Given the description of an element on the screen output the (x, y) to click on. 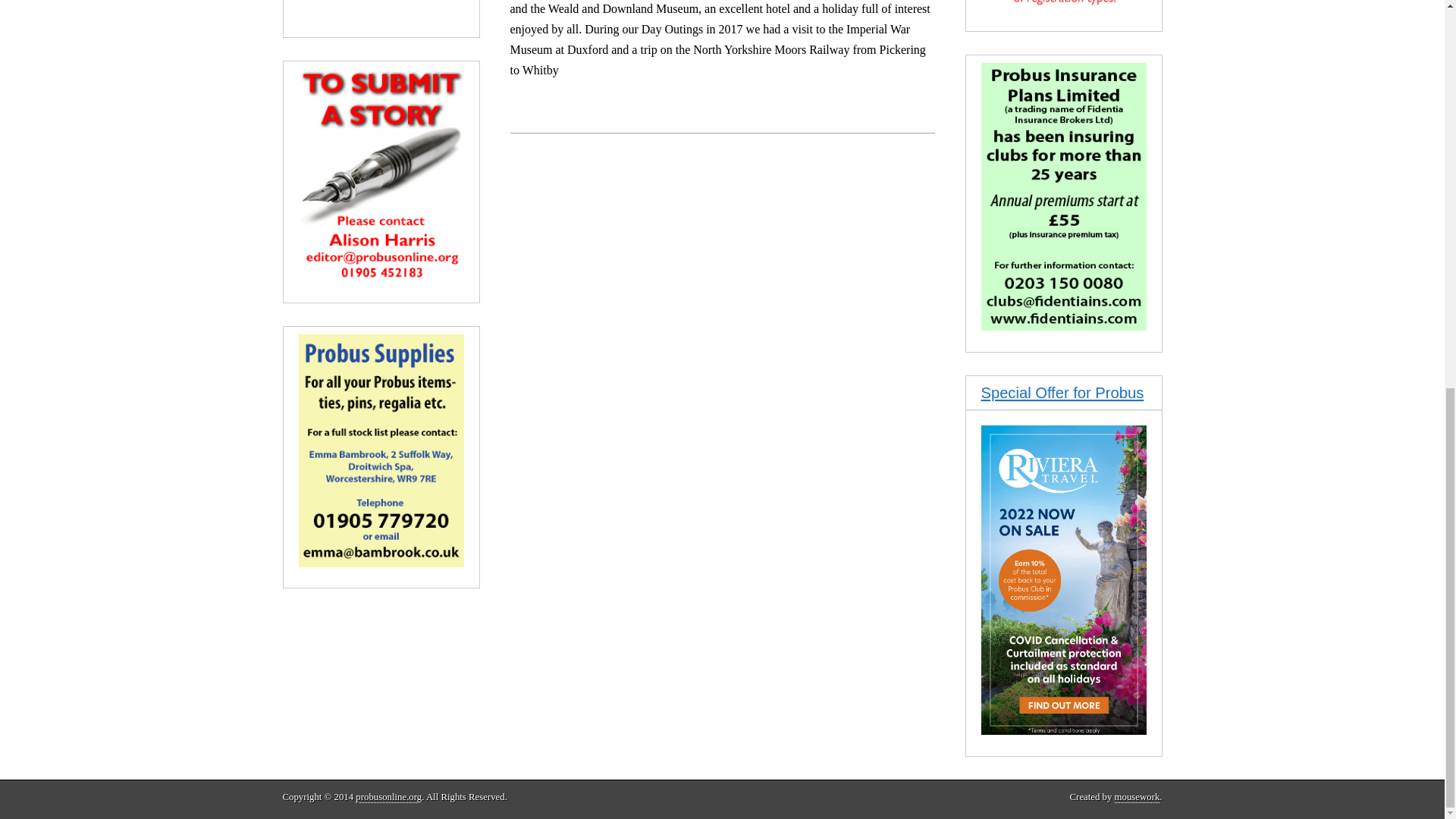
Special Offer for Probus (1062, 392)
mousework (1137, 797)
probusonline.org (388, 797)
